Given the description of an element on the screen output the (x, y) to click on. 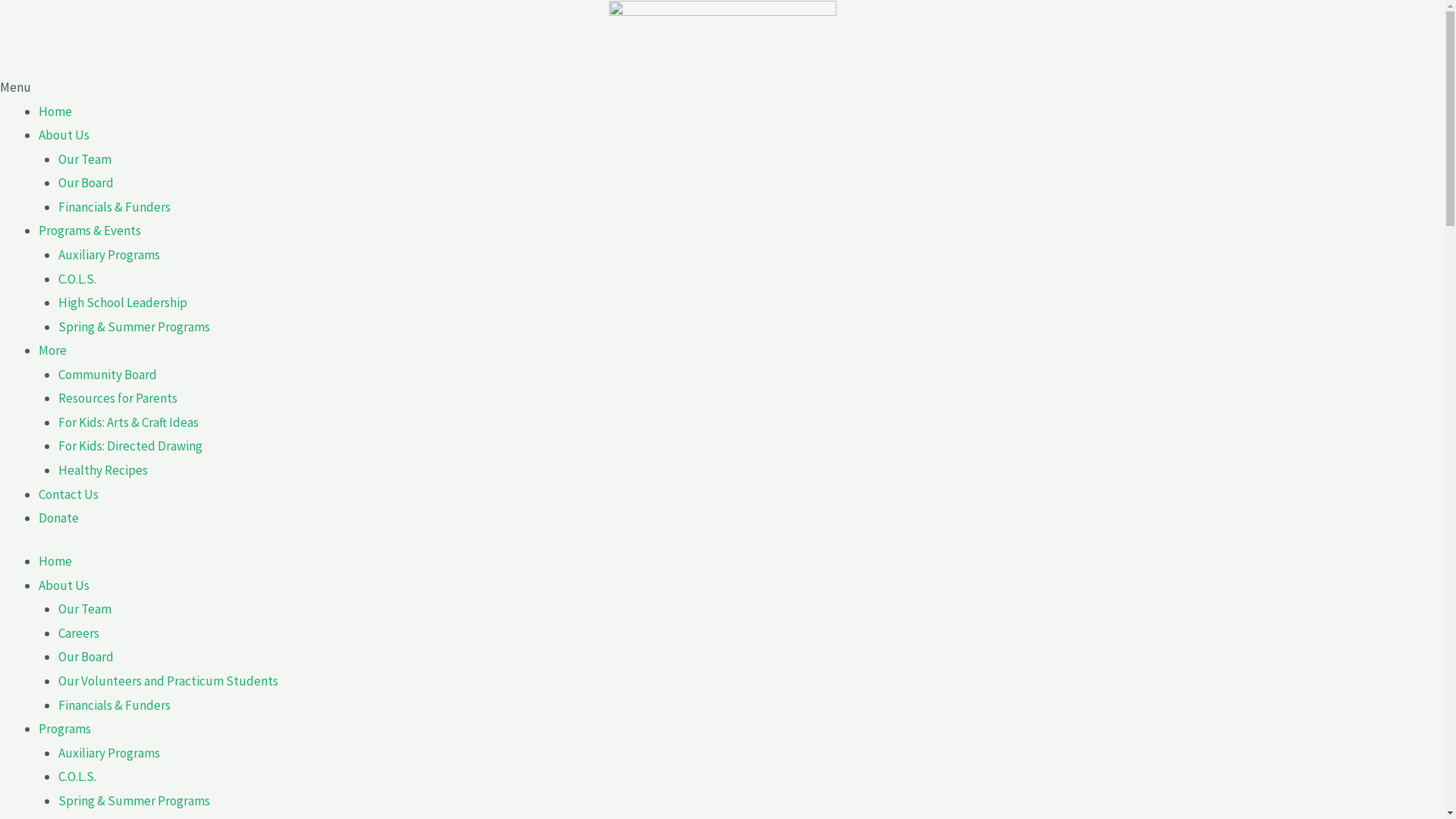
Our Team Element type: text (83, 608)
Home Element type: text (55, 111)
About Us Element type: text (63, 585)
Auxiliary Programs Element type: text (108, 254)
Healthy Recipes Element type: text (102, 469)
Spring & Summer Programs Element type: text (133, 326)
Our Board Element type: text (84, 182)
Contact Us Element type: text (68, 494)
Programs Element type: text (64, 728)
High School Leadership Element type: text (121, 302)
C.O.L.S. Element type: text (76, 277)
Our Volunteers and Practicum Students Element type: text (167, 680)
Auxiliary Programs Element type: text (108, 752)
Donate Element type: text (58, 517)
Careers Element type: text (77, 632)
Community Board Element type: text (106, 374)
Spring & Summer Programs Element type: text (133, 800)
C.O.L.S. Element type: text (76, 776)
Our Board Element type: text (84, 656)
Home Element type: text (55, 560)
Our Team Element type: text (83, 158)
Financials & Funders Element type: text (113, 704)
About Us Element type: text (63, 134)
Financials & Funders Element type: text (113, 206)
Resources for Parents Element type: text (116, 397)
More Element type: text (52, 350)
For Kids: Arts & Craft Ideas Element type: text (127, 422)
For Kids: Directed Drawing Element type: text (129, 445)
Programs & Events Element type: text (89, 230)
